Given the description of an element on the screen output the (x, y) to click on. 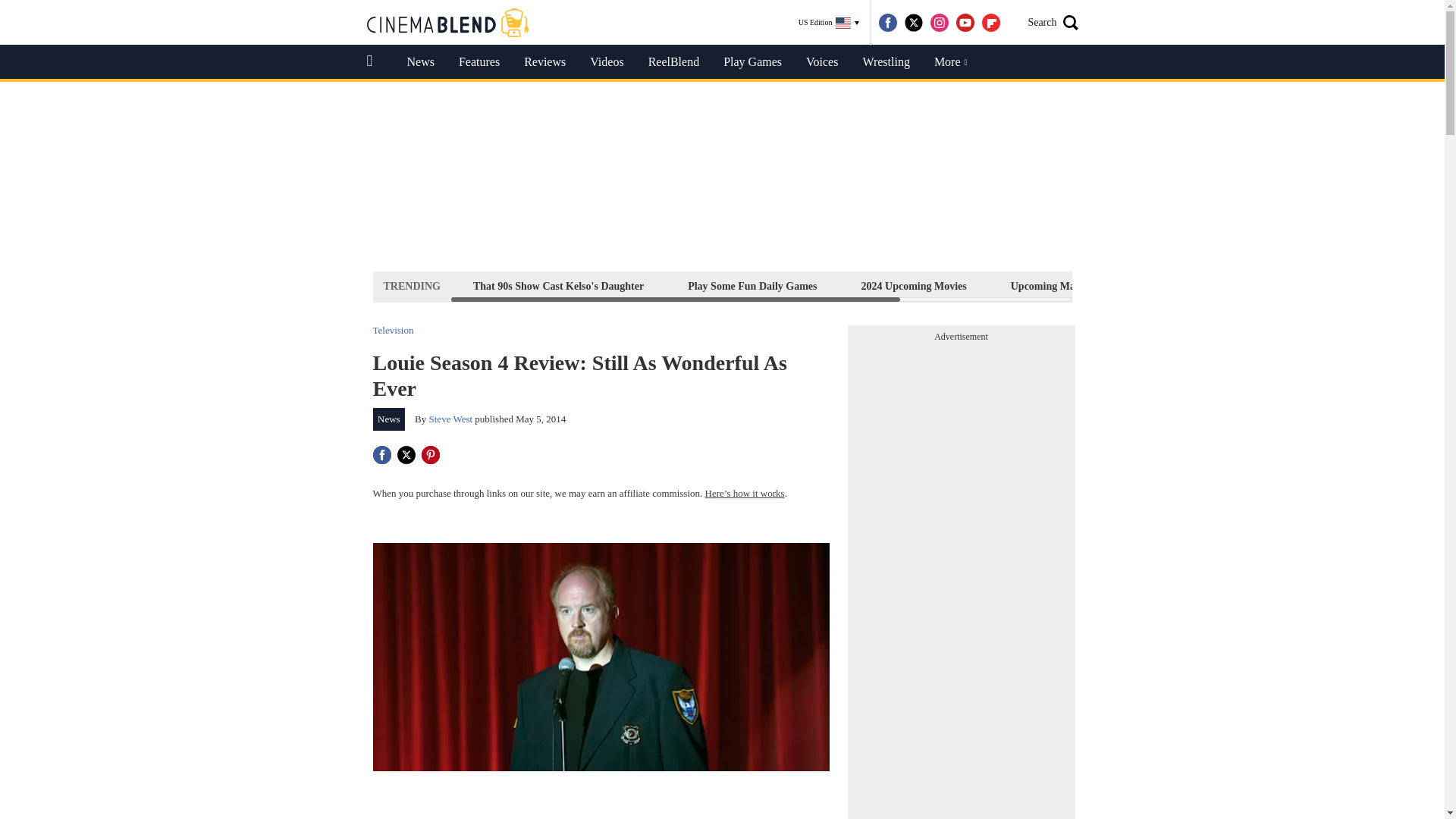
Play Some Fun Daily Games (752, 286)
Videos (606, 61)
Voices (821, 61)
ReelBlend (673, 61)
That 90s Show Cast Kelso's Daughter (558, 286)
News (419, 61)
Upcoming Marvel Movies (1070, 286)
Wrestling (885, 61)
Television (392, 329)
2024 Upcoming Movies (914, 286)
